Given the description of an element on the screen output the (x, y) to click on. 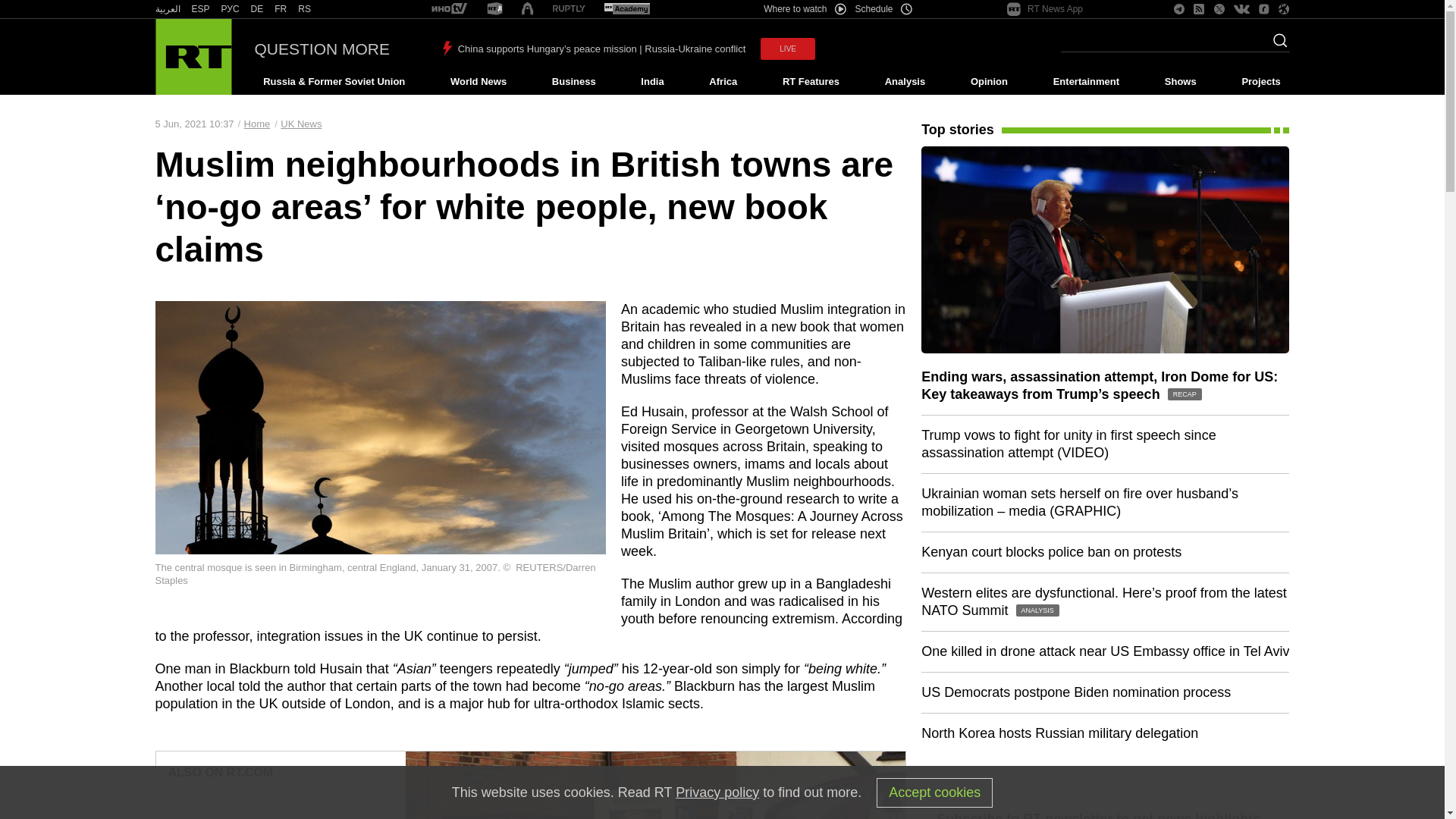
DE (256, 9)
ESP (199, 9)
Where to watch (803, 9)
RT  (569, 8)
RT News App (1045, 9)
RT  (166, 9)
LIVE (787, 48)
RT  (304, 9)
Opinion (988, 81)
RT  (230, 9)
Entertainment (1085, 81)
RT  (199, 9)
Projects (1261, 81)
Analysis (905, 81)
Business (573, 81)
